Given the description of an element on the screen output the (x, y) to click on. 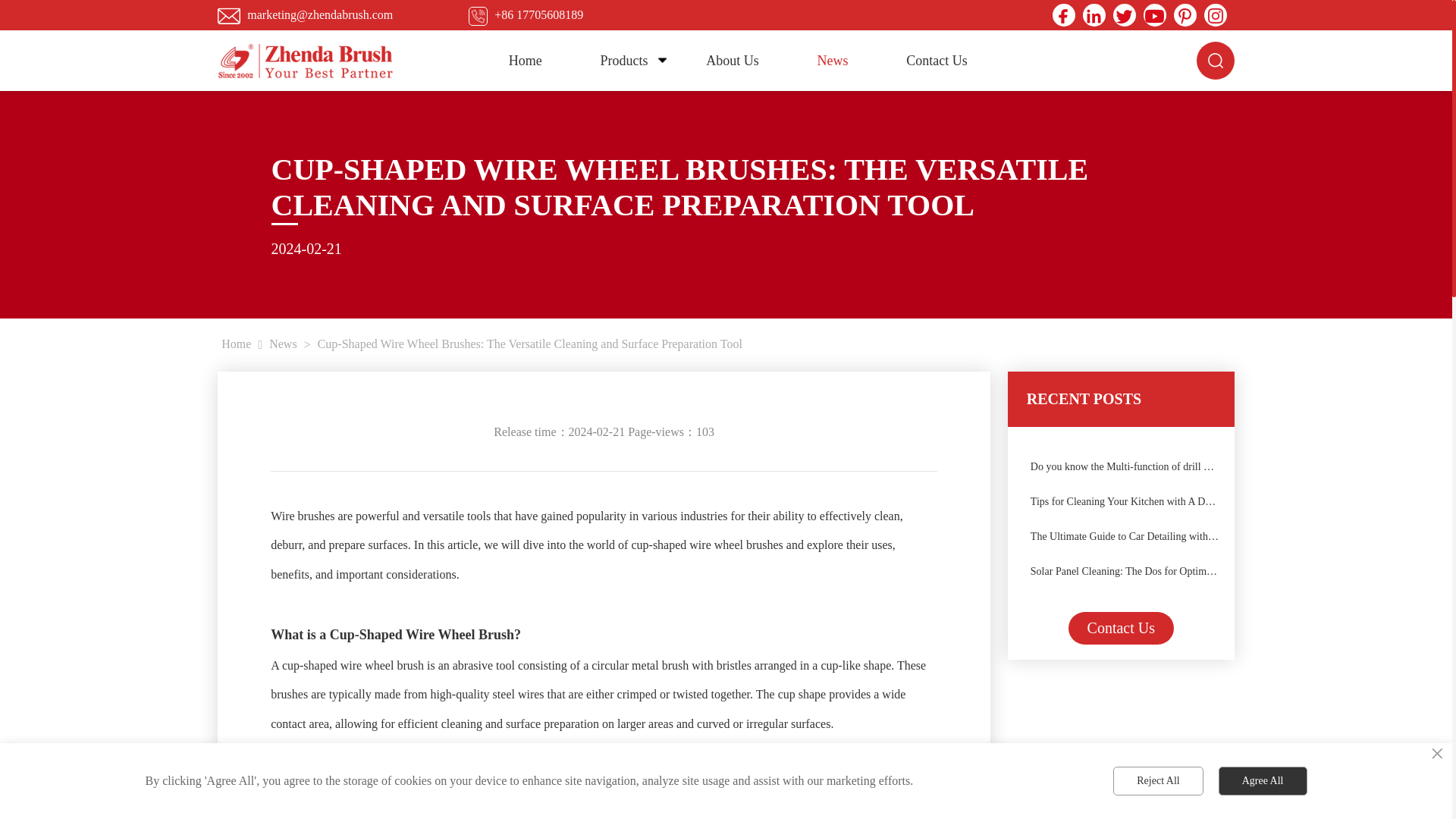
Products (623, 60)
About Us (732, 60)
Home (524, 60)
Contact Us (936, 60)
News (832, 60)
